Given the description of an element on the screen output the (x, y) to click on. 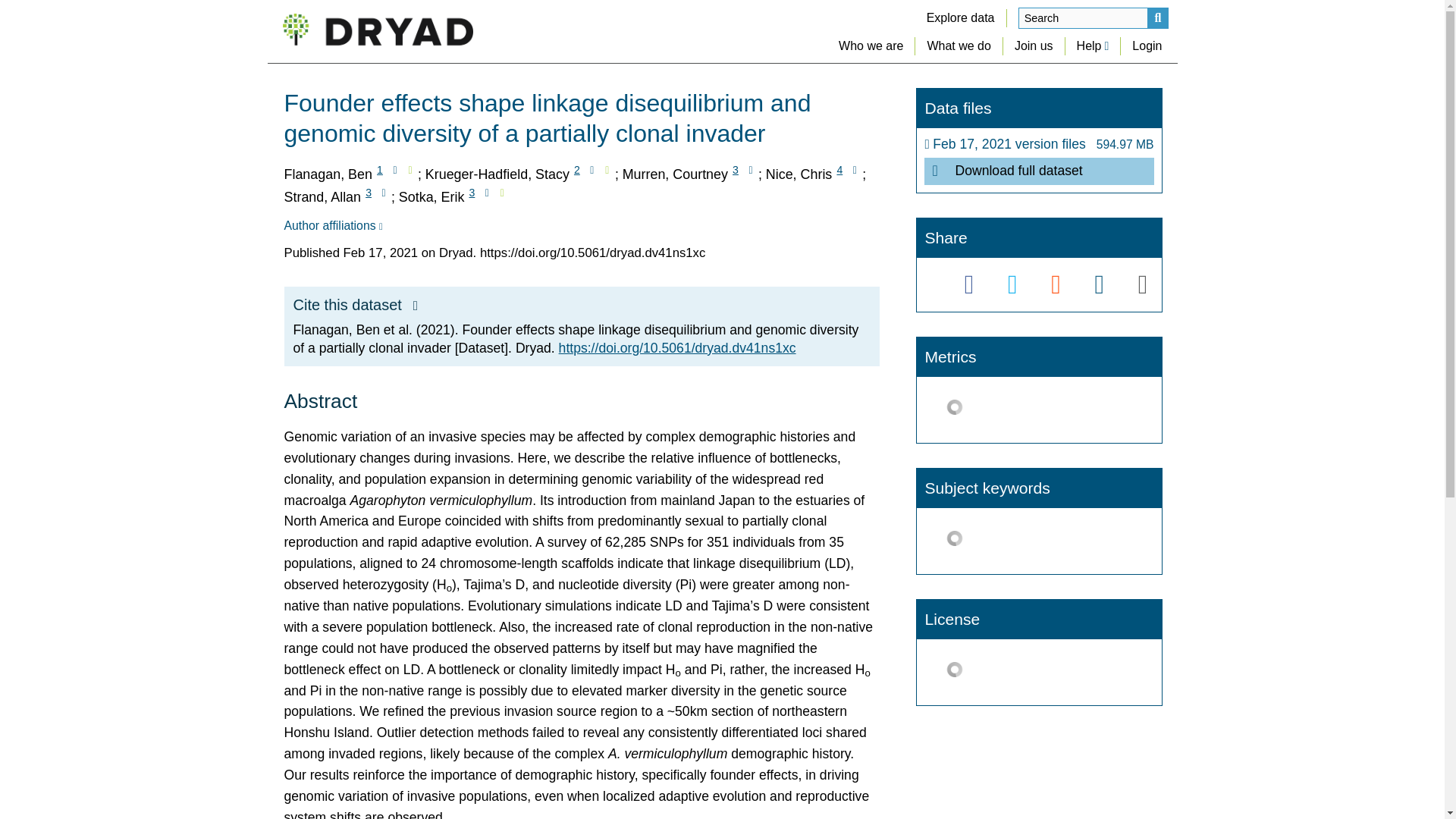
3 (368, 193)
3 (471, 193)
ORCID: 0000-0001-5167-8549 (502, 193)
ORCID: 0000-0002-7324-7448 (606, 170)
Author affiliations (332, 225)
Who we are (870, 45)
2 (577, 170)
4 (839, 170)
ORCID: 0000-0002-0204-6139 (410, 170)
Copy citation (415, 306)
1 (379, 170)
3 (735, 170)
